Given the description of an element on the screen output the (x, y) to click on. 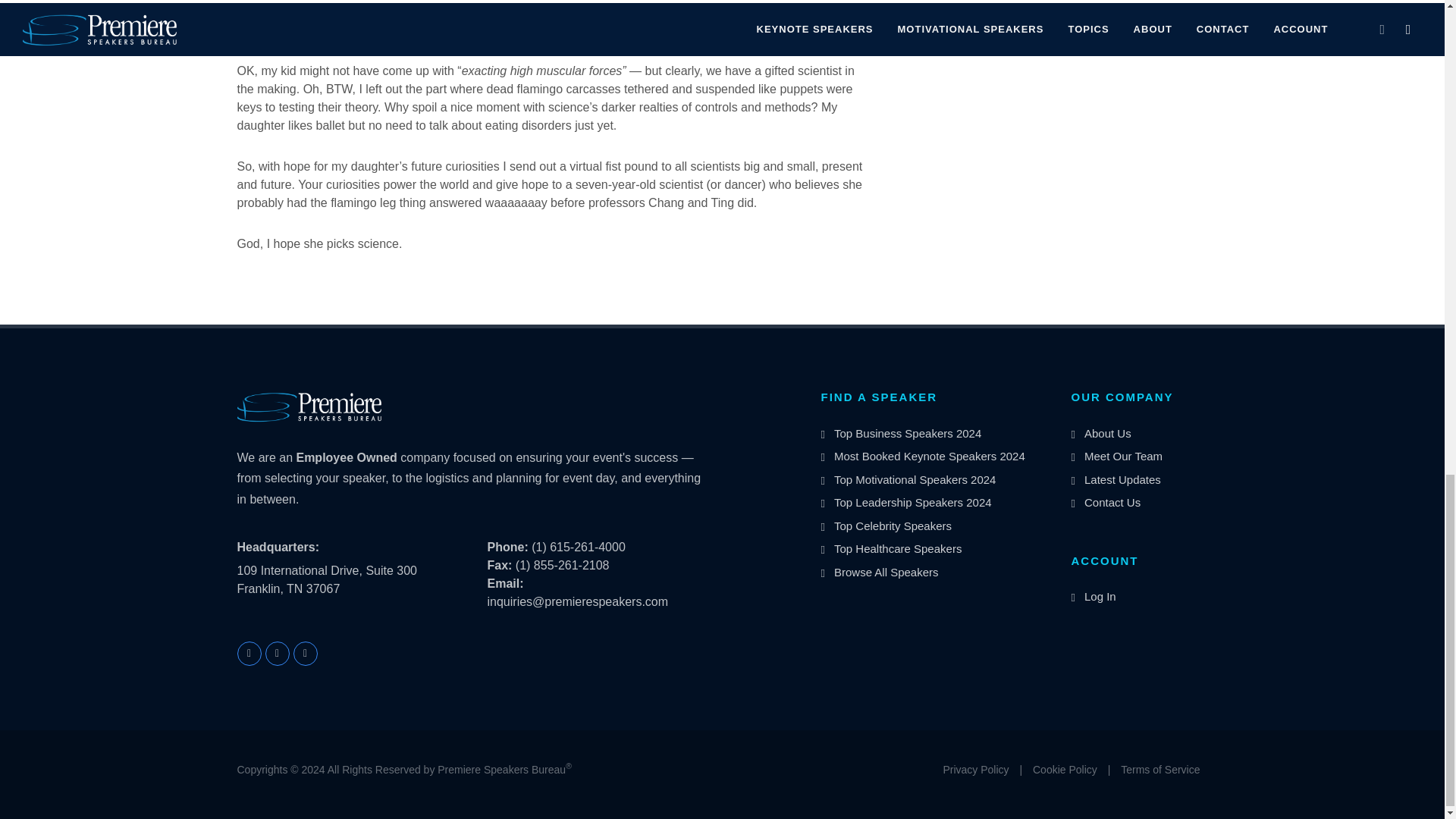
Phone Number (506, 546)
Headquarters (276, 547)
Fax (499, 564)
Email Address (504, 583)
Cookie Policy (1064, 769)
Privacy Policy (975, 769)
Terms of Service (1160, 769)
